Given the description of an element on the screen output the (x, y) to click on. 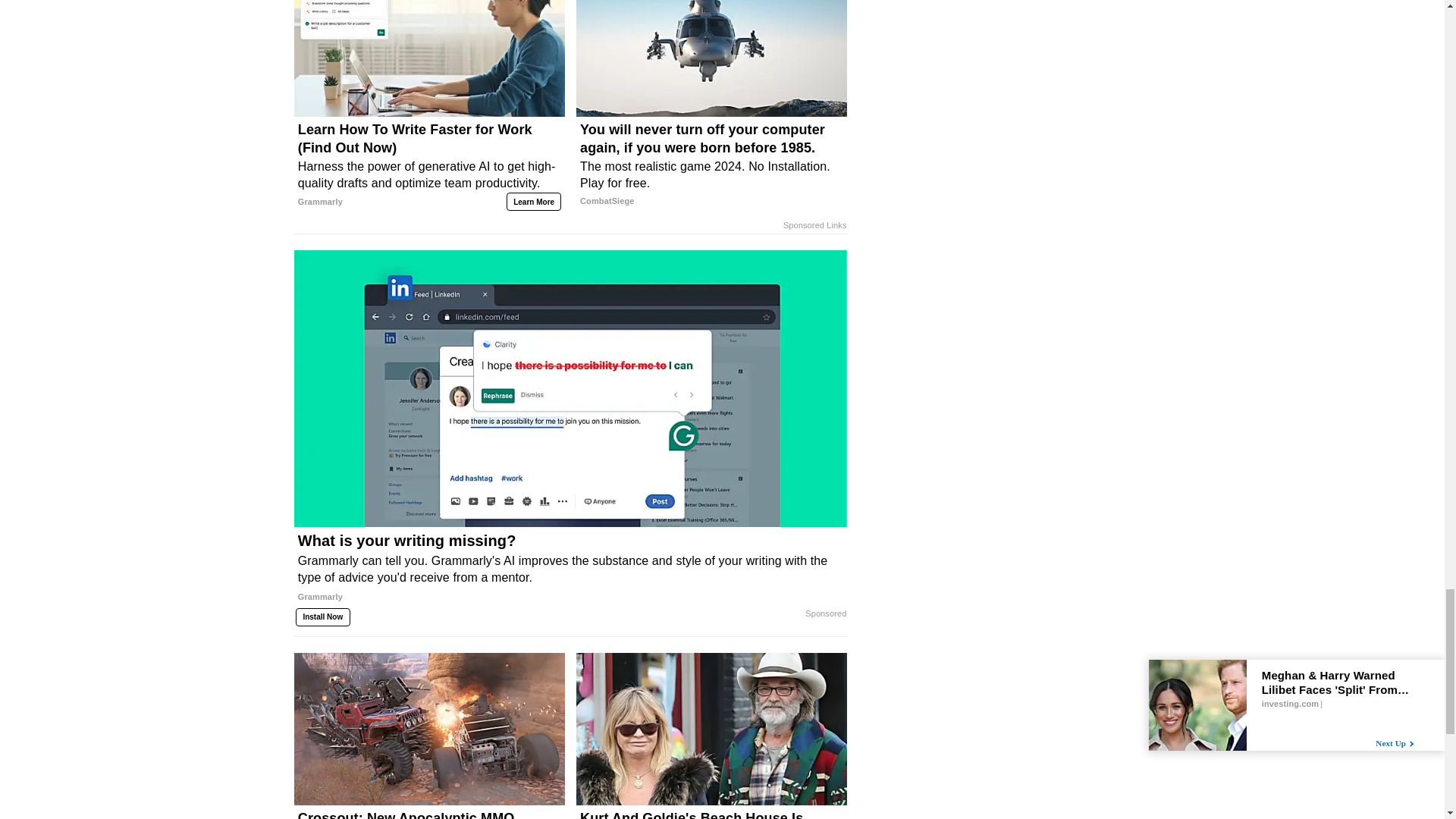
Crossout: New Apocalyptic MMO (429, 814)
What is your writing missing? (570, 574)
